Given the description of an element on the screen output the (x, y) to click on. 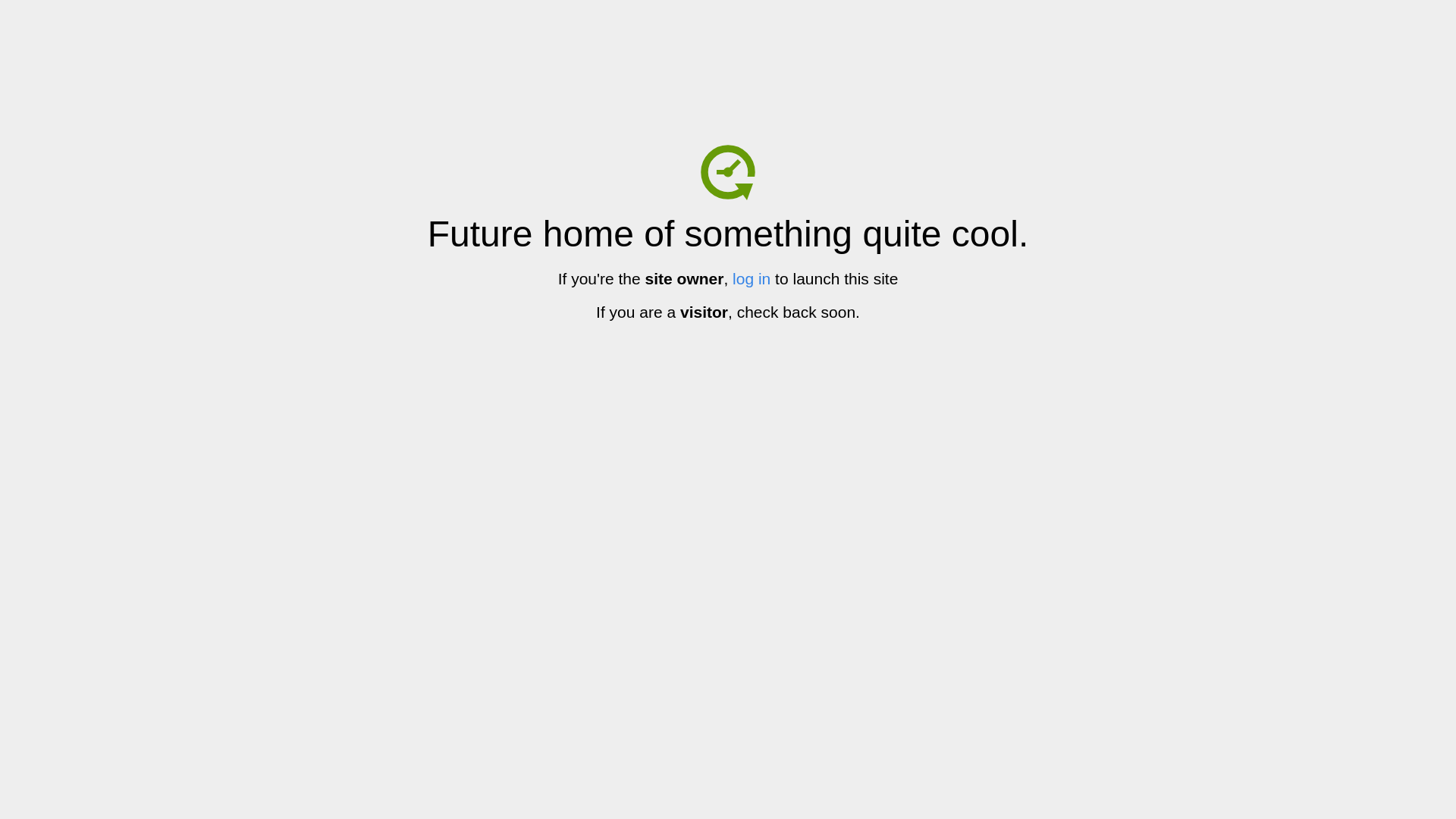
log in Element type: text (751, 278)
